Given the description of an element on the screen output the (x, y) to click on. 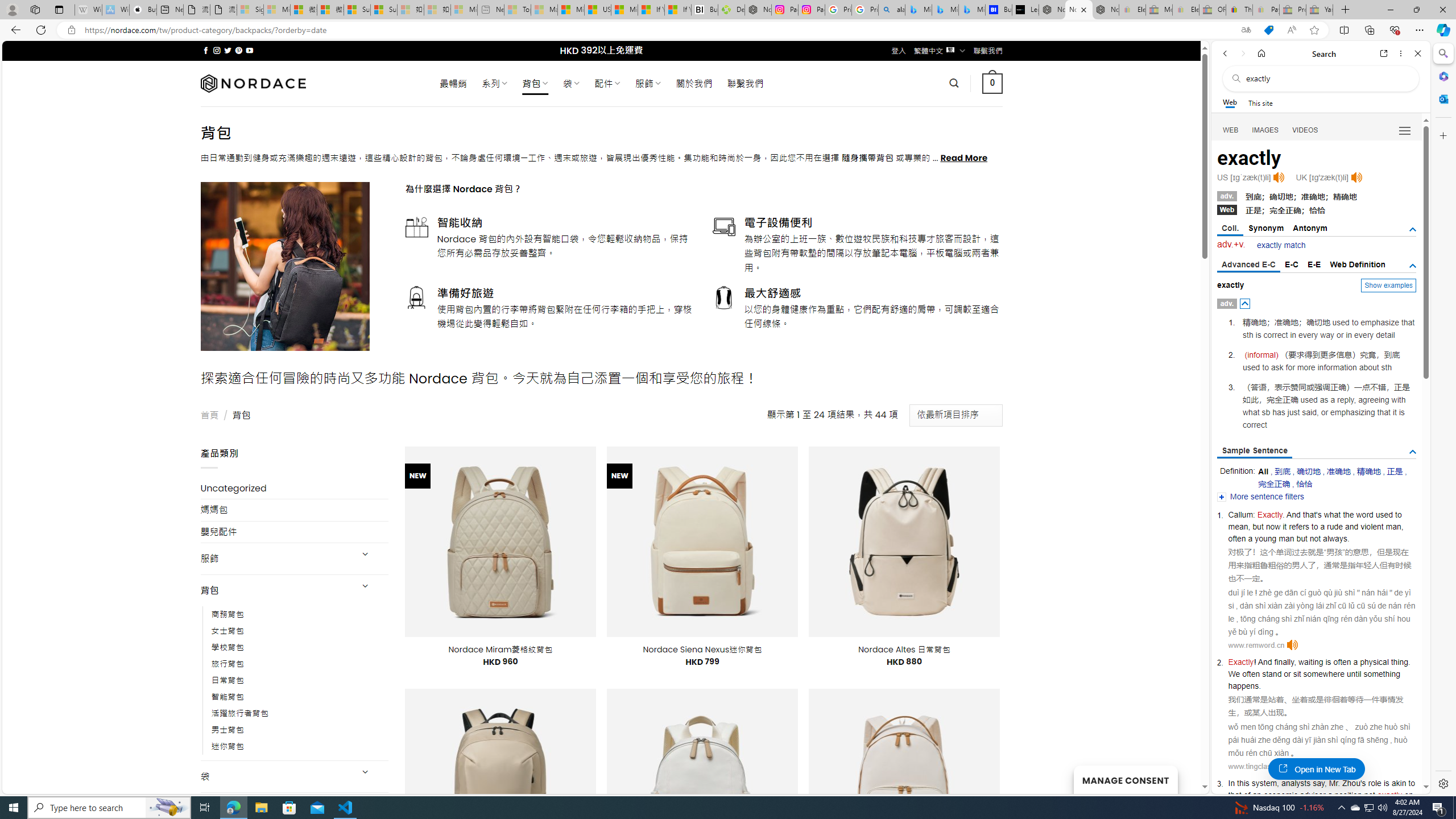
this (1243, 782)
AutomationID: tgsb (1412, 229)
word (1364, 514)
of (1246, 794)
  0   (992, 83)
We (1233, 673)
